Given the description of an element on the screen output the (x, y) to click on. 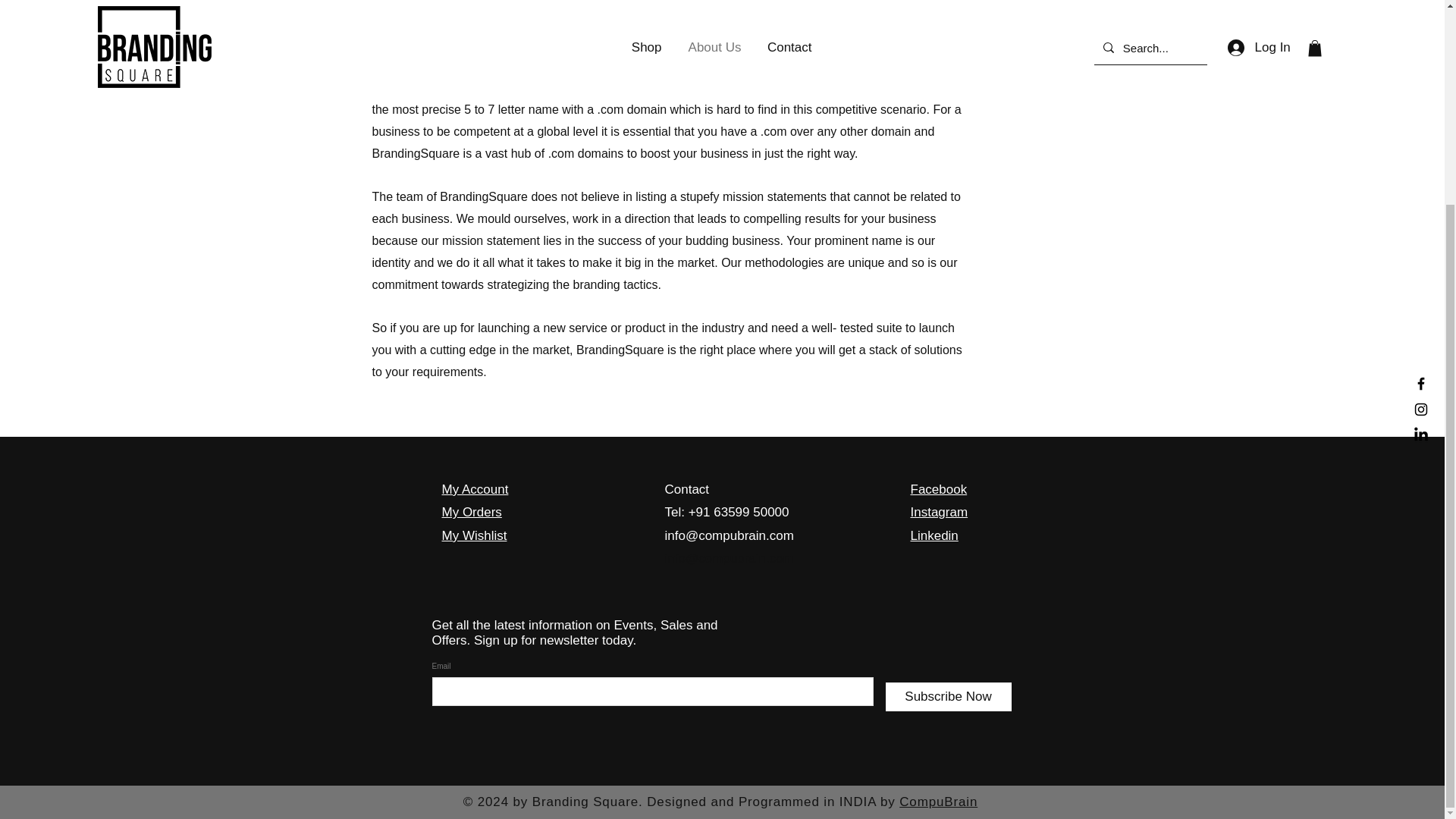
Instagram (939, 512)
CompuBrain (937, 801)
Subscribe Now (948, 696)
Facebook (938, 489)
My Wishlist (473, 535)
My Account (474, 489)
Linkedin (934, 535)
Contact (686, 489)
My Orders (470, 512)
